Given the description of an element on the screen output the (x, y) to click on. 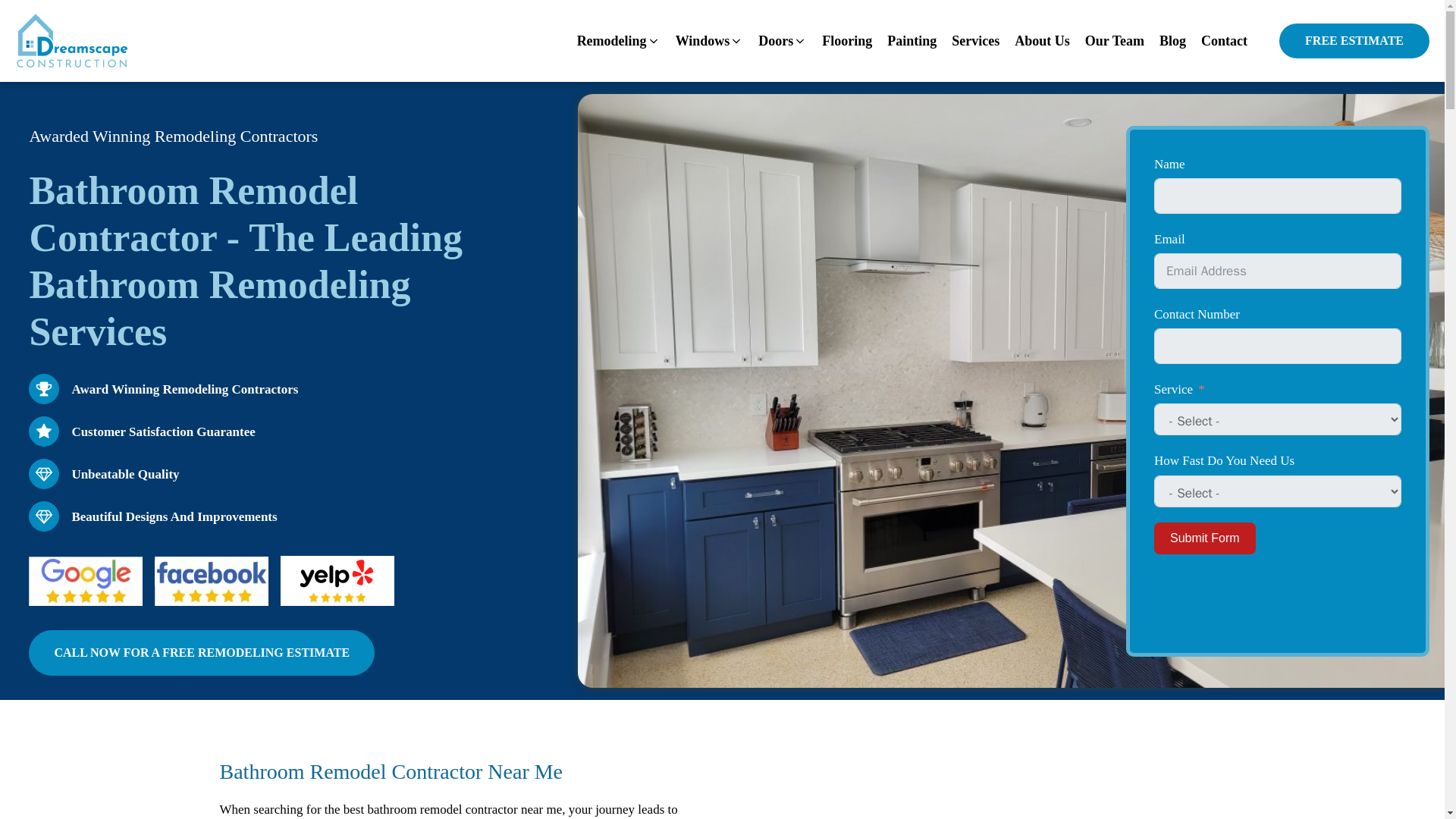
Windows (709, 41)
CALL NOW FOR A FREE REMODELING ESTIMATE (201, 652)
Flooring (846, 41)
Services (975, 41)
Remodeling (618, 41)
Contact (1224, 41)
Our Team (1114, 41)
Blog (1172, 41)
FREE ESTIMATE (1354, 40)
About Us (1042, 41)
Submit Form (1204, 538)
Painting (911, 41)
Doors (782, 41)
